Given the description of an element on the screen output the (x, y) to click on. 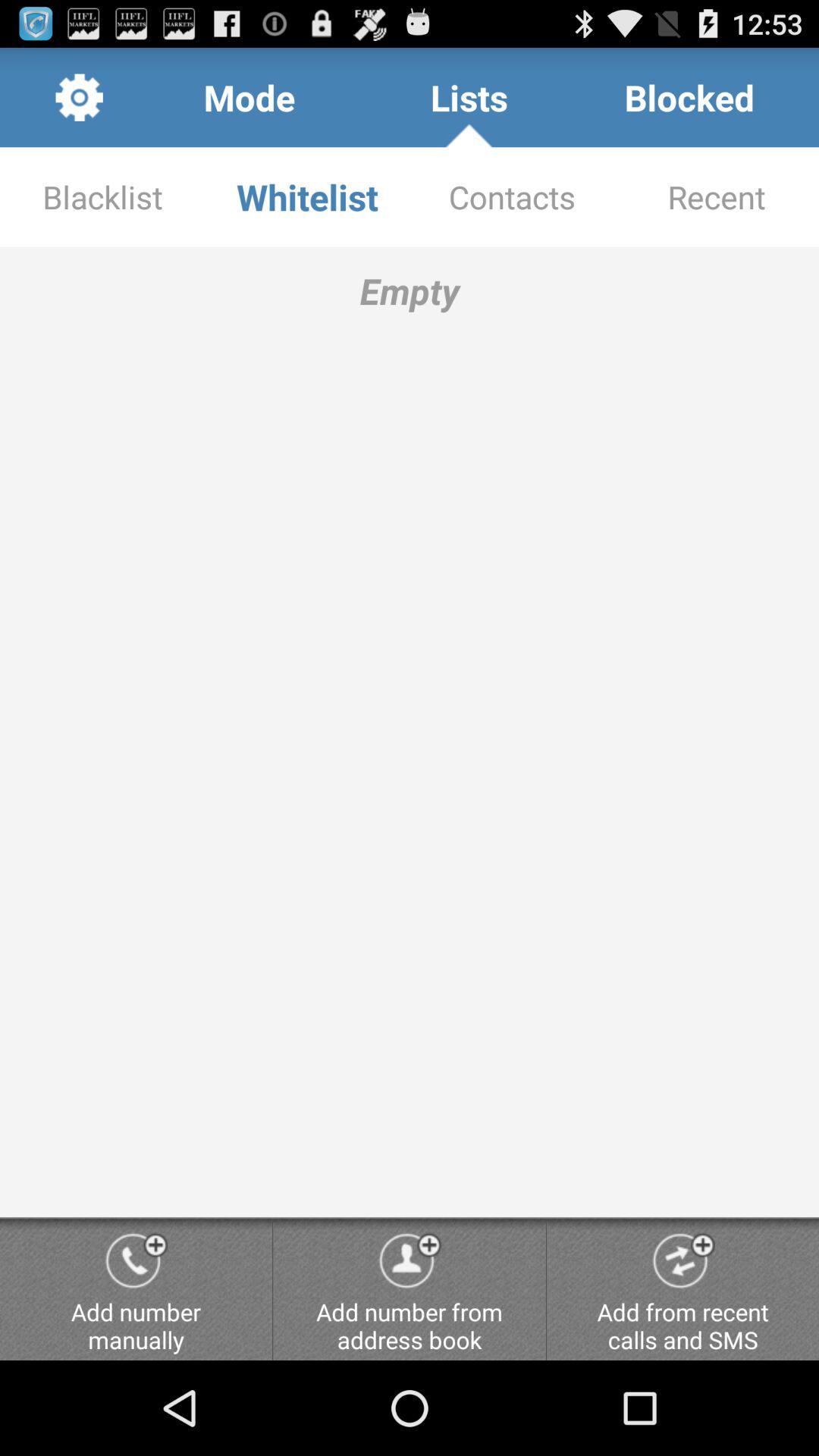
turn on the icon at the center (409, 731)
